Given the description of an element on the screen output the (x, y) to click on. 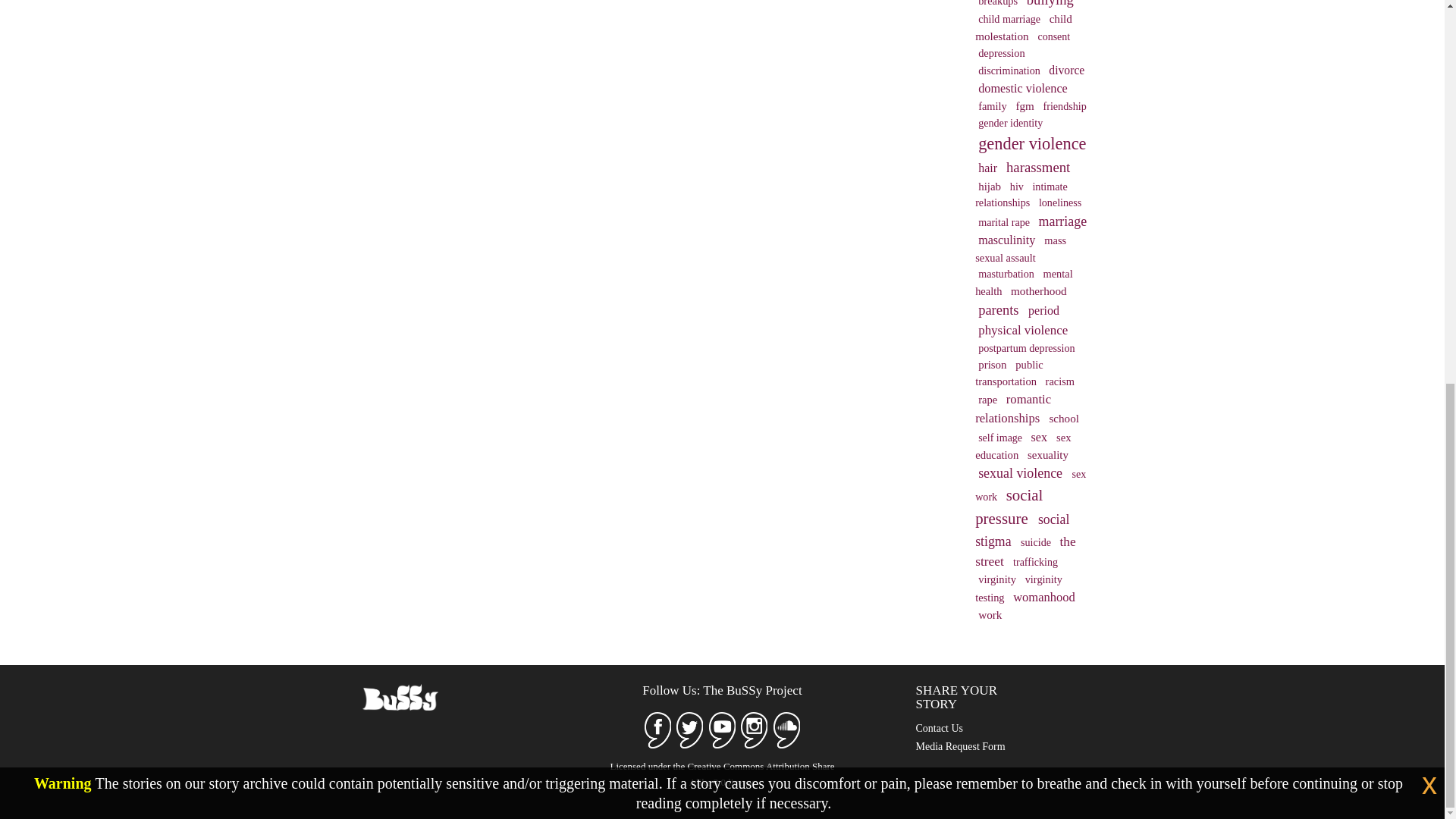
16 items tagged with depression (1001, 53)
2 items tagged with child marriage (1010, 18)
4 items tagged with discrimination (1010, 70)
39 items tagged with child molestation (1023, 27)
78 items tagged with domestic violence (1022, 88)
14 items tagged with breakups (999, 4)
167 items tagged with bullying (1050, 5)
1 items tagged with consent (1053, 36)
58 items tagged with divorce (1066, 69)
38 items tagged with fgm (1025, 106)
